Given the description of an element on the screen output the (x, y) to click on. 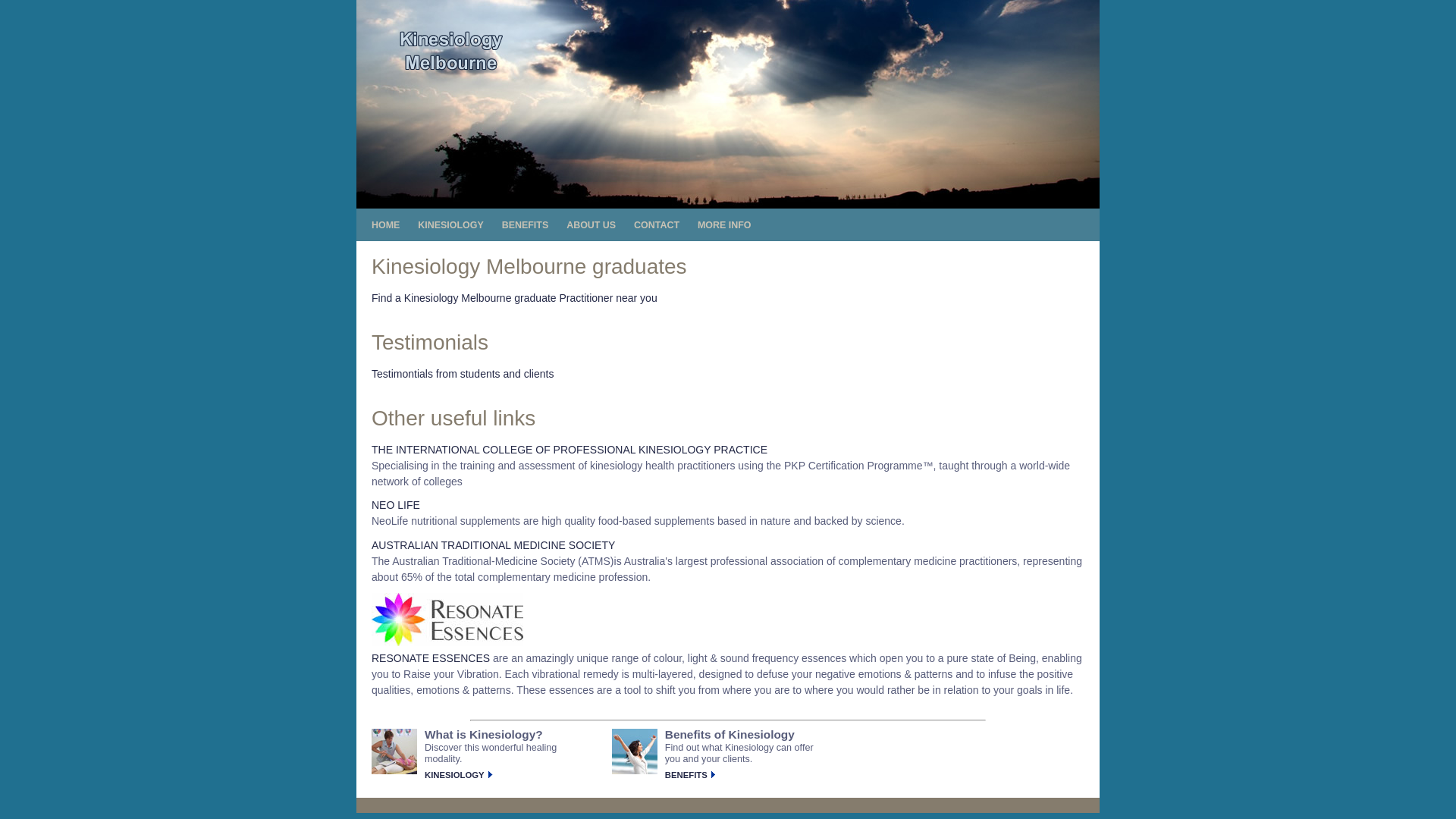
BENEFITS Element type: text (690, 774)
ABOUT US Element type: text (590, 225)
Testimontials from students and clients Element type: text (462, 373)
KINESIOLOGY Element type: text (458, 774)
AUSTRALIAN TRADITIONAL MEDICINE SOCIETY Element type: text (493, 545)
BENEFITS Element type: text (525, 225)
NEO LIFE Element type: text (395, 504)
RESONATE ESSENCES Element type: text (430, 658)
CONTACT Element type: text (656, 225)
KINESIOLOGY Element type: text (450, 225)
MORE INFO Element type: text (724, 225)
Find a Kinesiology Melbourne graduate Practitioner near you Element type: text (514, 297)
HOME Element type: text (385, 225)
